Given the description of an element on the screen output the (x, y) to click on. 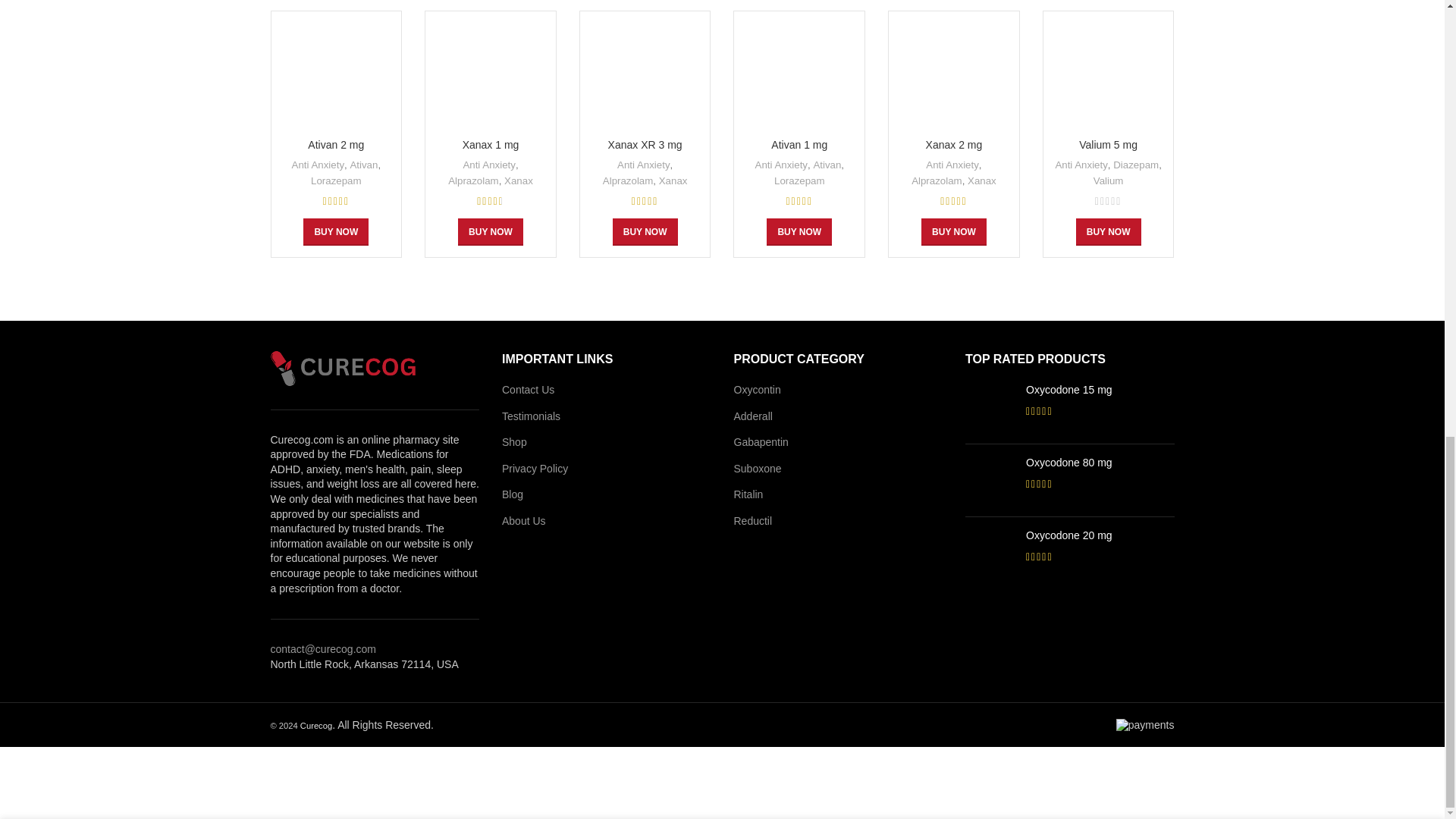
Oxycodone 80 mg (989, 480)
Oxycodone 80 mg (1100, 462)
Oxycodone 15 mg (989, 407)
Oxycodone 15 mg (1100, 390)
Oxycodone 20 mg (1100, 535)
Oxycodone 20 mg (989, 553)
